Given the description of an element on the screen output the (x, y) to click on. 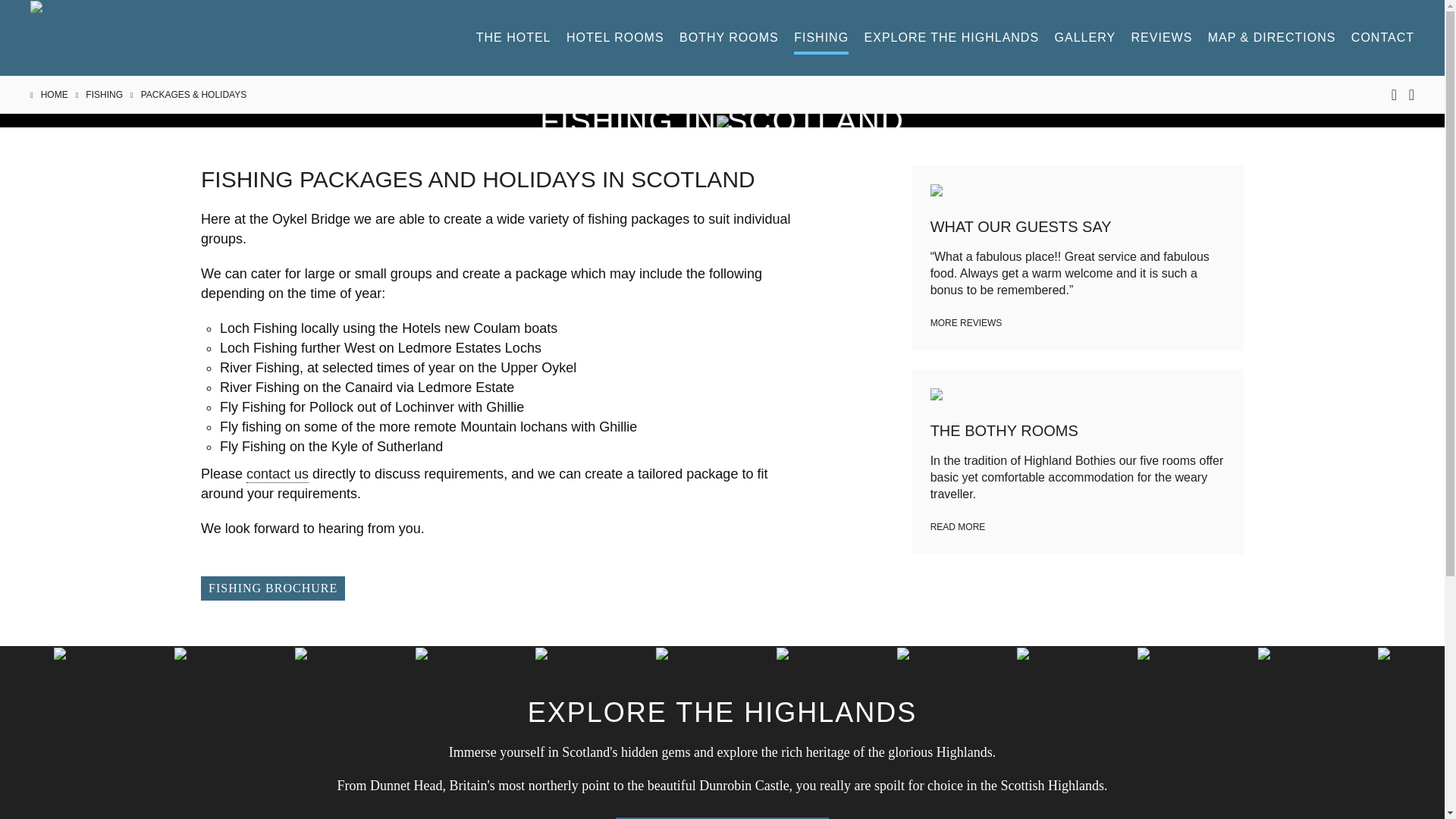
READ MORE (957, 526)
EXPLORE THE HIGHLANDS (951, 42)
MORE REVIEWS (966, 322)
GALLERY (1085, 42)
FISHING BROCHURE (272, 588)
BOTHY ROOMS (728, 42)
HOTEL ROOMS (614, 42)
REVIEWS (1161, 42)
HOME (52, 94)
CONTACT (1382, 42)
